Given the description of an element on the screen output the (x, y) to click on. 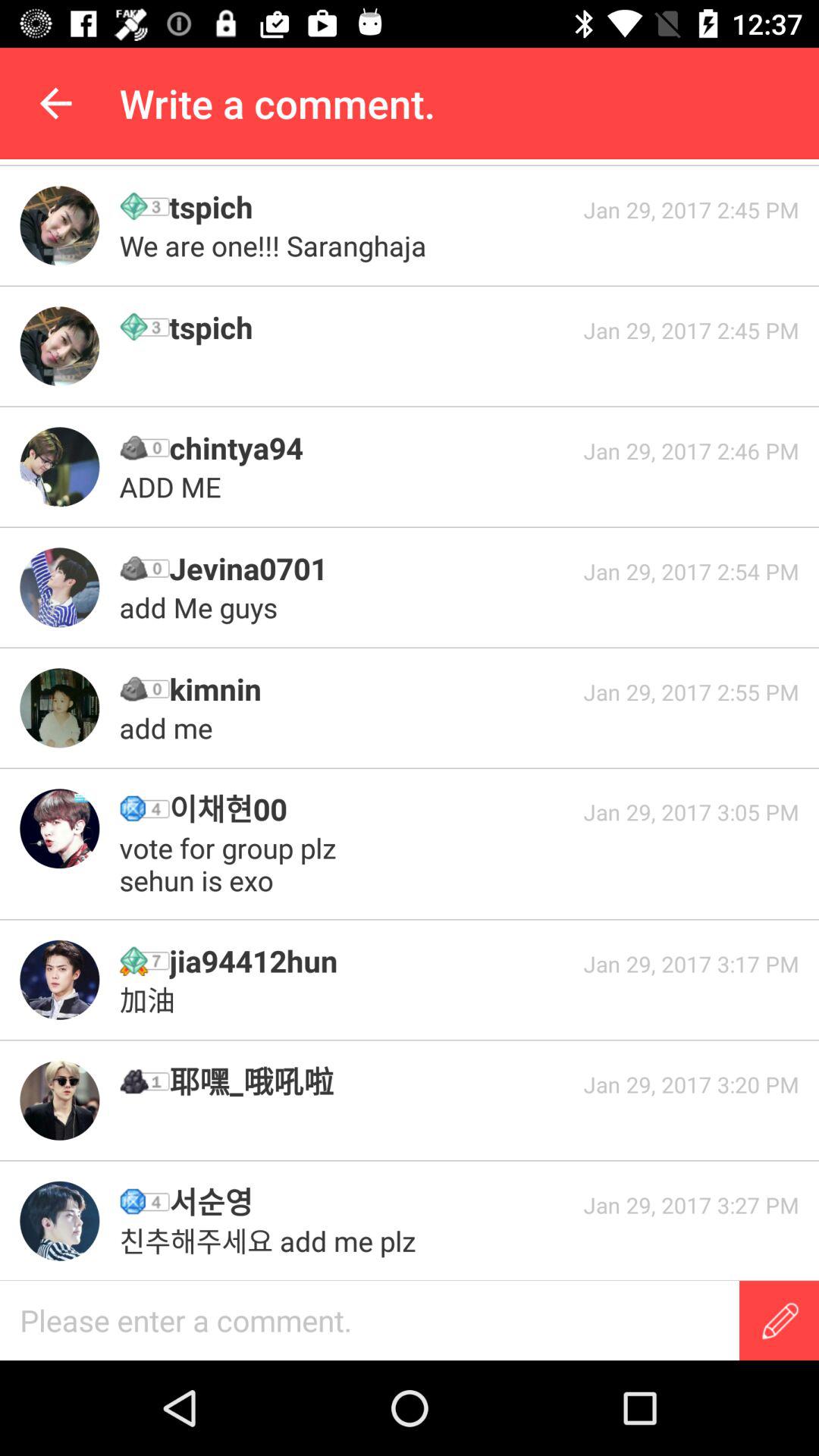
open chintya94 profile picture (59, 466)
